Given the description of an element on the screen output the (x, y) to click on. 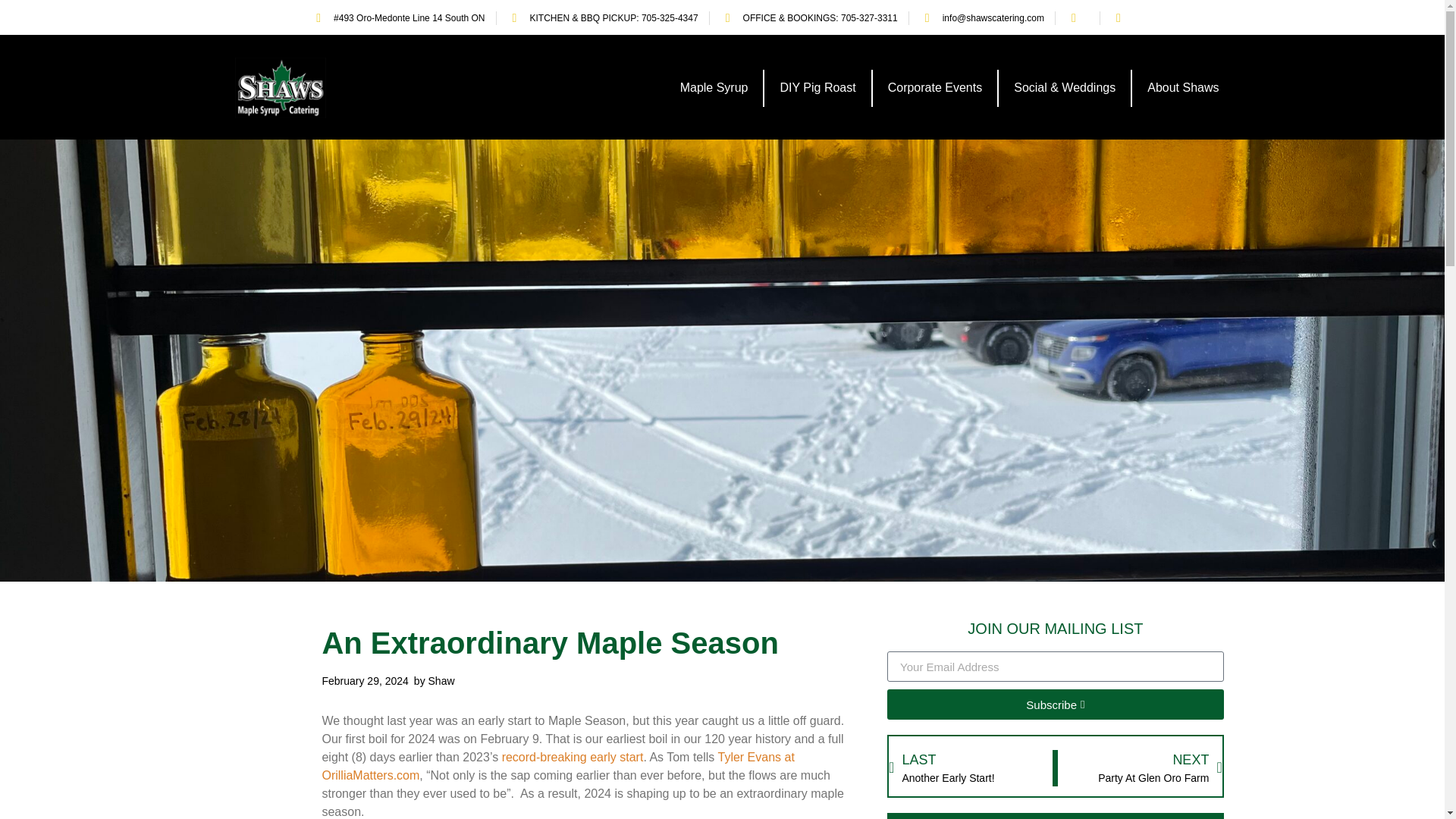
About Shaws (1182, 87)
Maple Syrup (713, 87)
DIY Pig Roast (817, 87)
Corporate Events (934, 87)
